Given the description of an element on the screen output the (x, y) to click on. 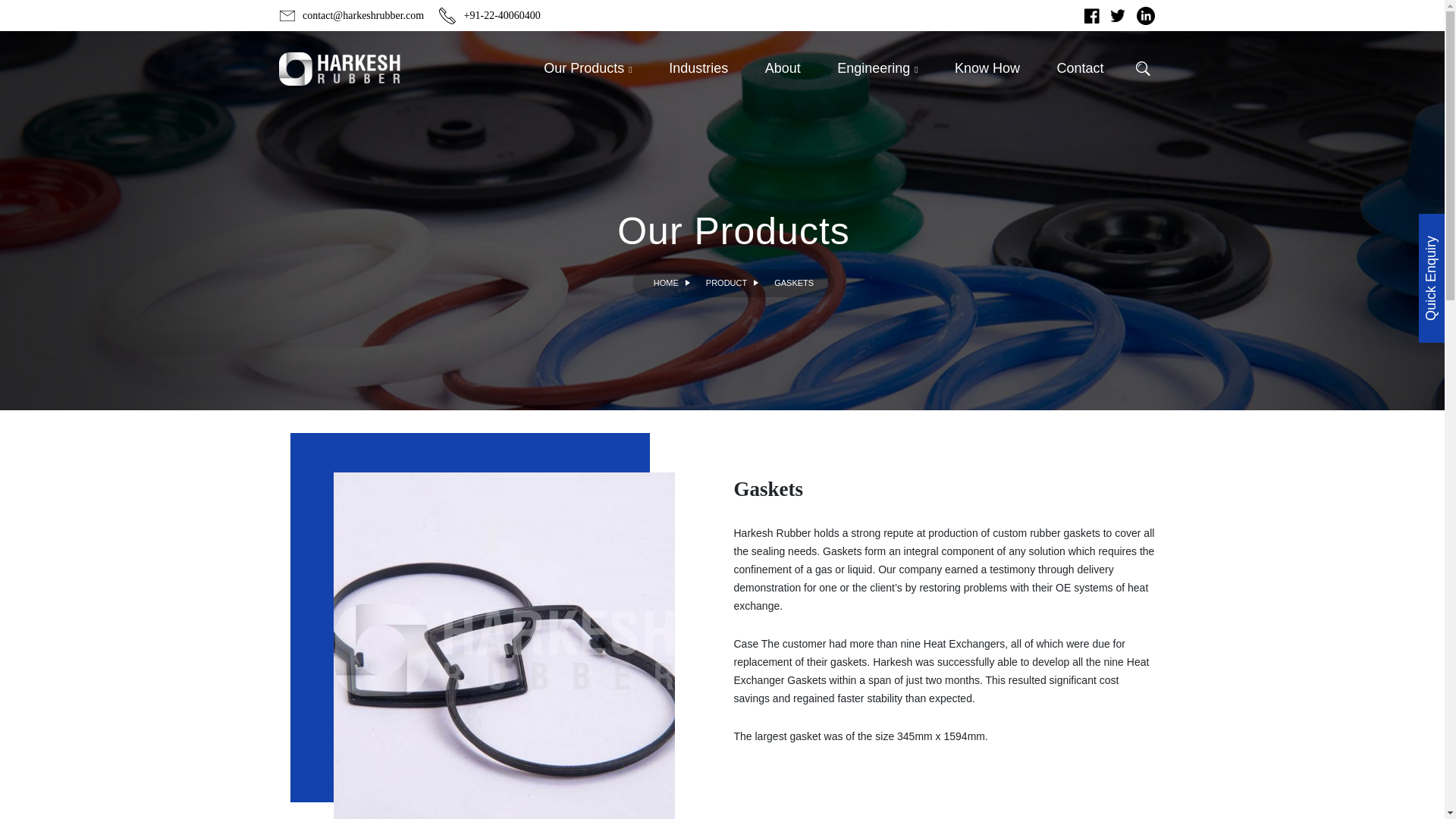
Industries (698, 68)
HOME (665, 283)
Gaskets (504, 645)
Our Products (587, 68)
PRODUCT (726, 283)
Know How (986, 68)
Engineering (877, 68)
Contact (1072, 68)
About (782, 68)
